Given the description of an element on the screen output the (x, y) to click on. 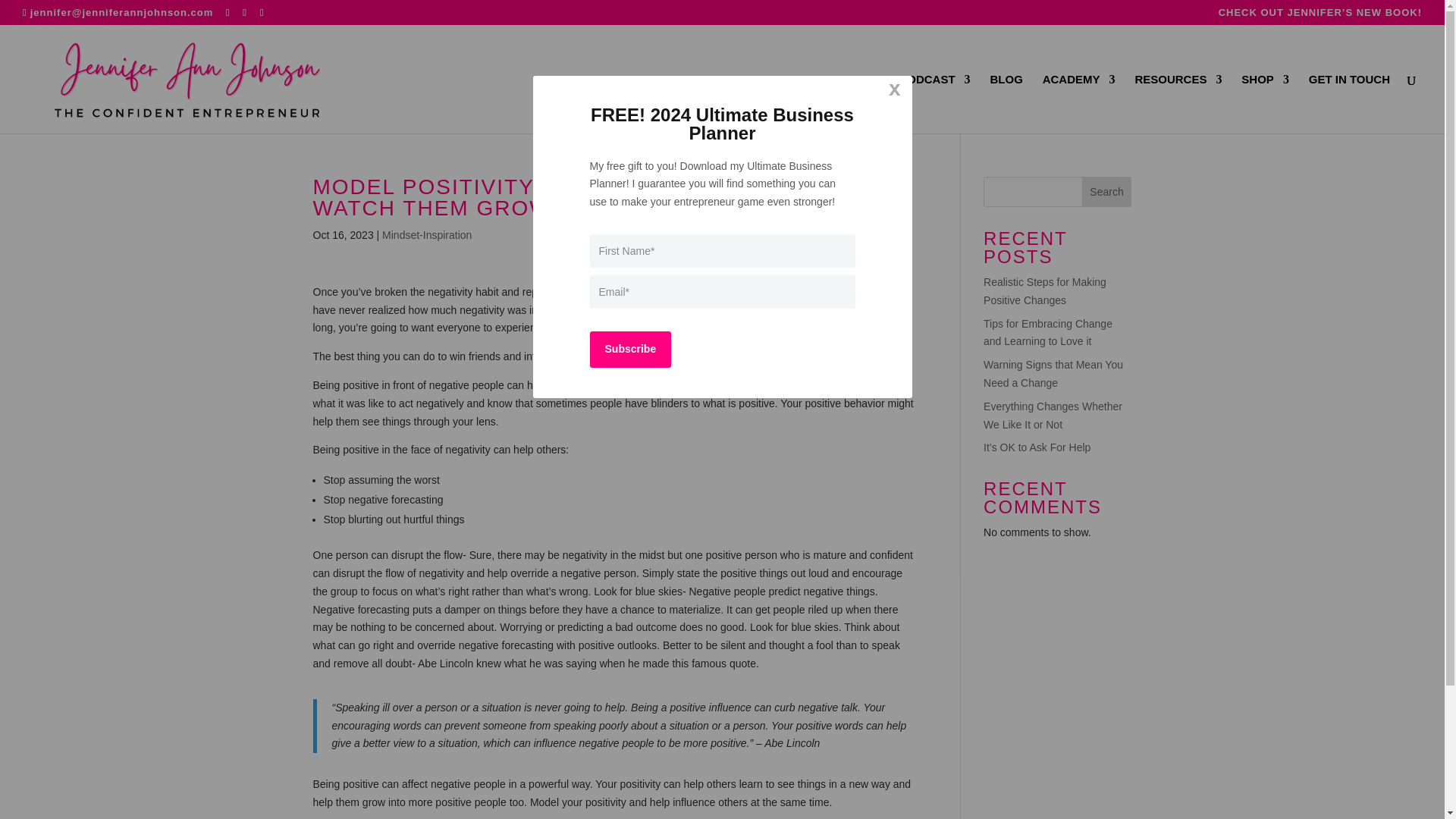
PODCAST (934, 103)
RESOURCES (1177, 103)
Subscribe (630, 349)
ACADEMY (1078, 103)
GET IN TOUCH (1349, 103)
